Given the description of an element on the screen output the (x, y) to click on. 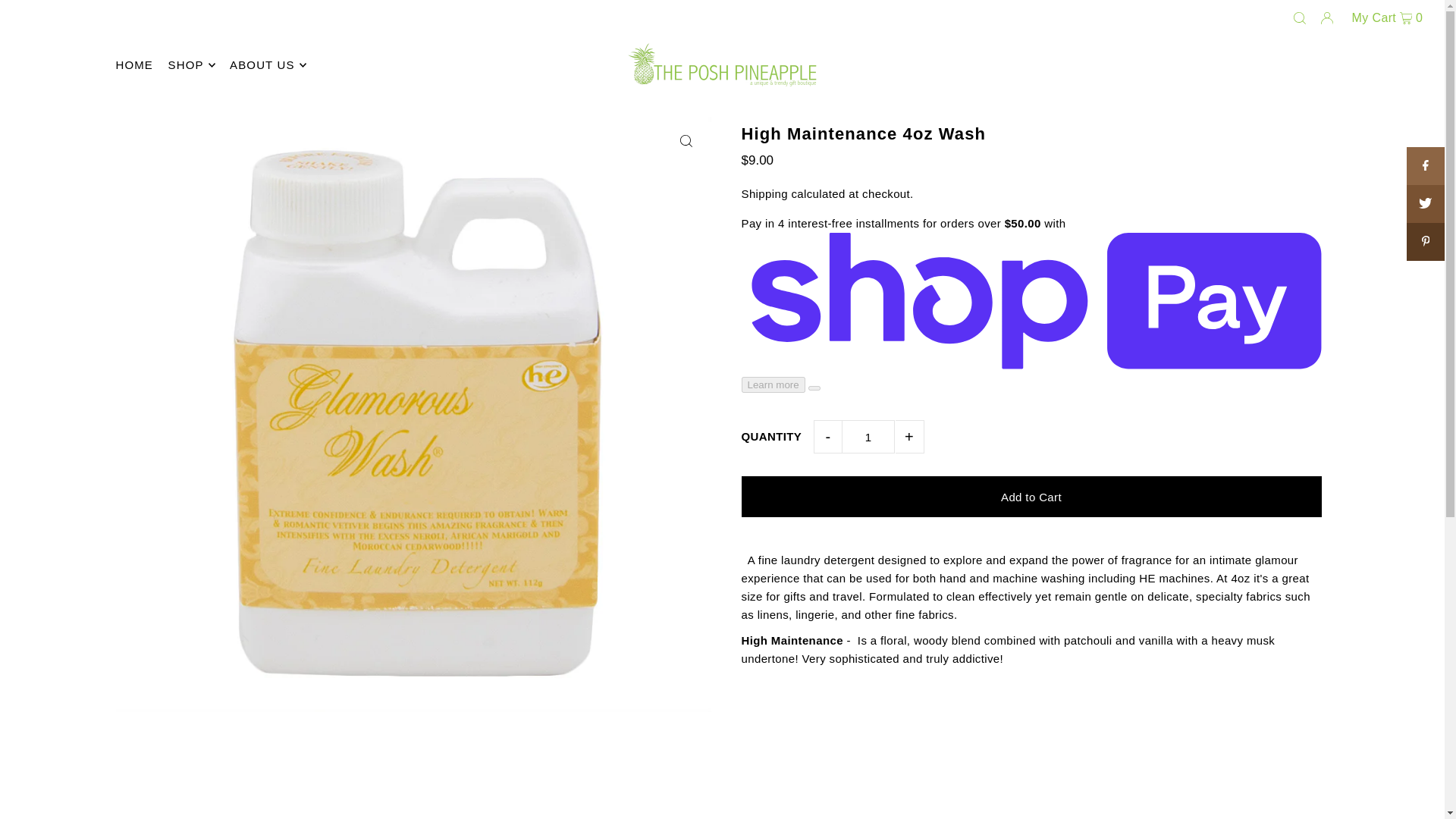
Click to zoom (685, 141)
Add to Cart (1031, 495)
1 (868, 436)
